Given the description of an element on the screen output the (x, y) to click on. 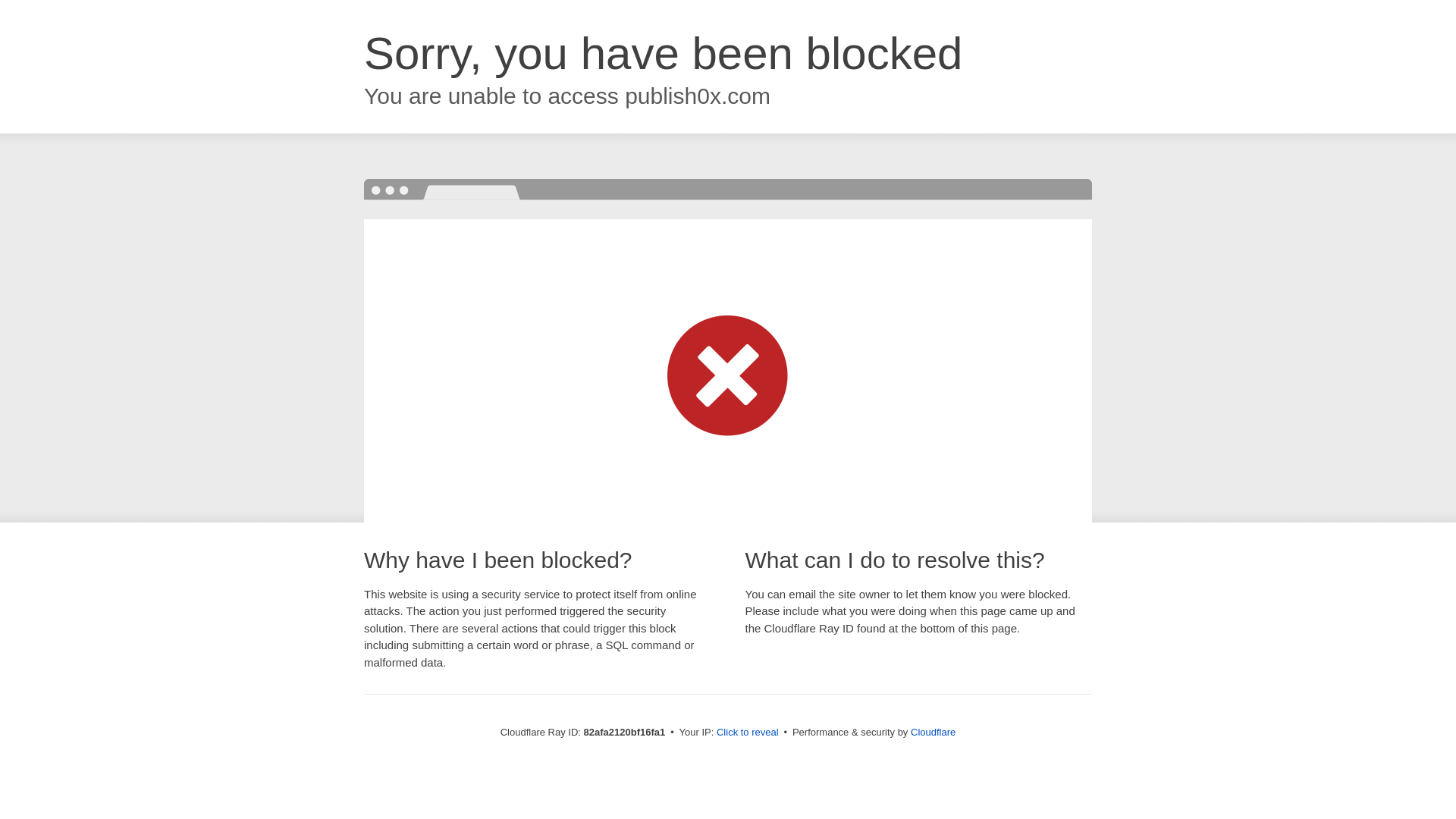
Cloudflare Element type: text (932, 731)
Click to reveal Element type: text (747, 732)
